Given the description of an element on the screen output the (x, y) to click on. 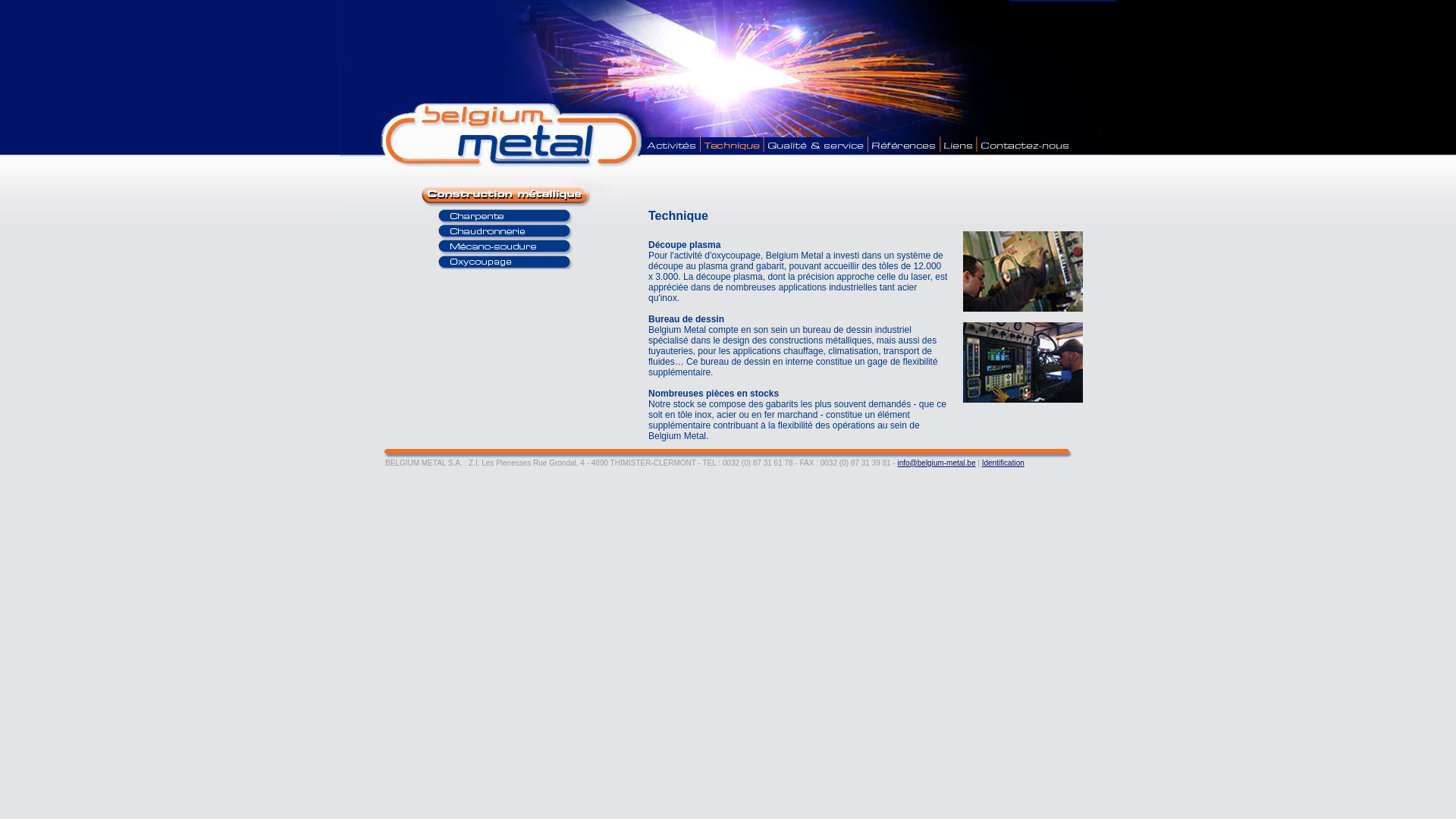
info@belgium-metal.be Element type: text (936, 462)
Identification Element type: text (1003, 462)
